Given the description of an element on the screen output the (x, y) to click on. 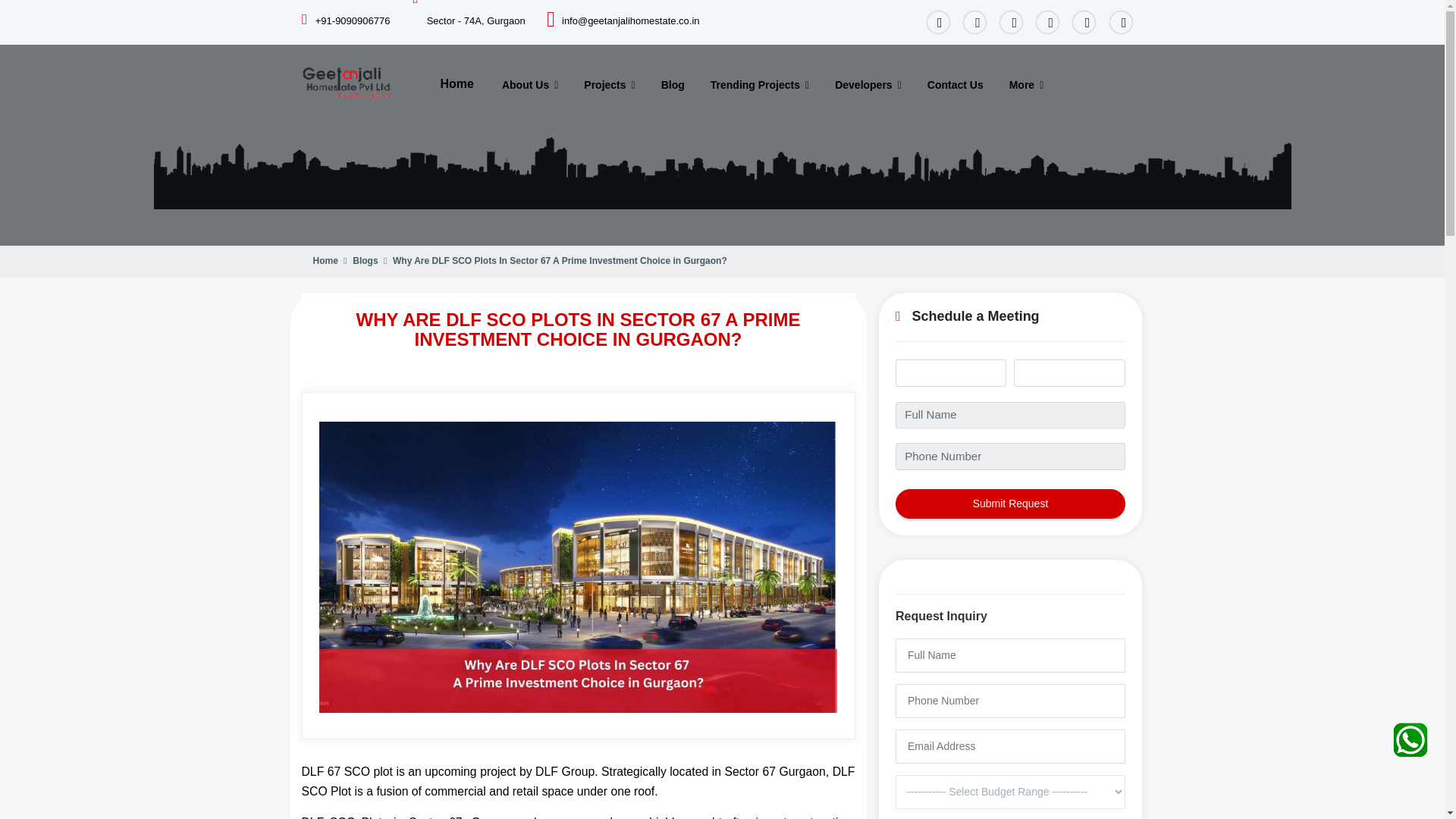
About Us (530, 84)
Home (456, 83)
Trending Projects (759, 84)
Blog (673, 84)
Submit Request (1010, 503)
WhatsApp To Geetanjali Homestate (1410, 745)
Projects (609, 84)
